Given the description of an element on the screen output the (x, y) to click on. 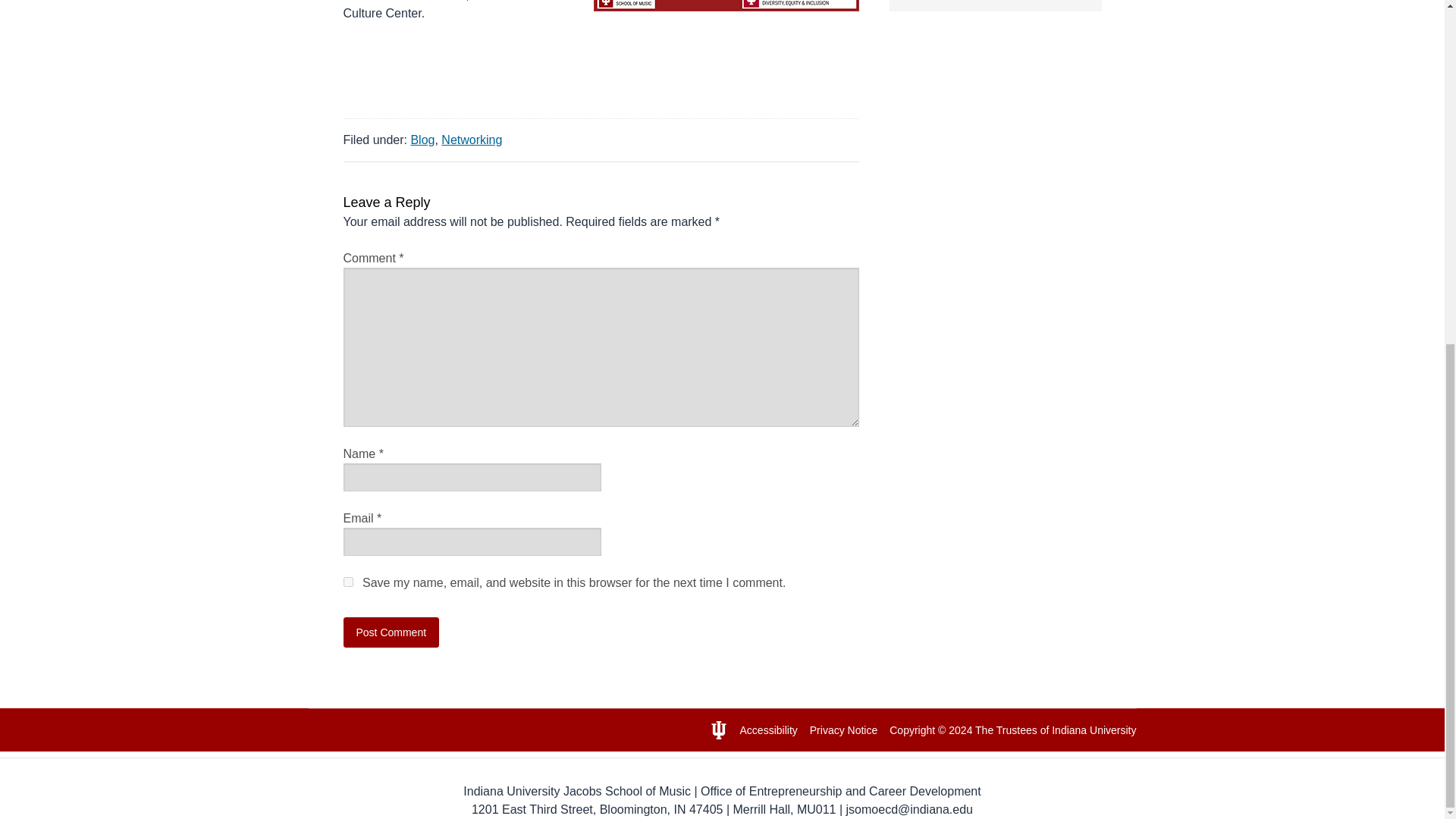
yes (347, 582)
Post Comment (390, 632)
Post Comment (390, 632)
Privacy Notice (843, 729)
Copyright (911, 729)
Networking (471, 139)
Blog (421, 139)
Accessibility (768, 729)
Indiana University (1093, 729)
